Given the description of an element on the screen output the (x, y) to click on. 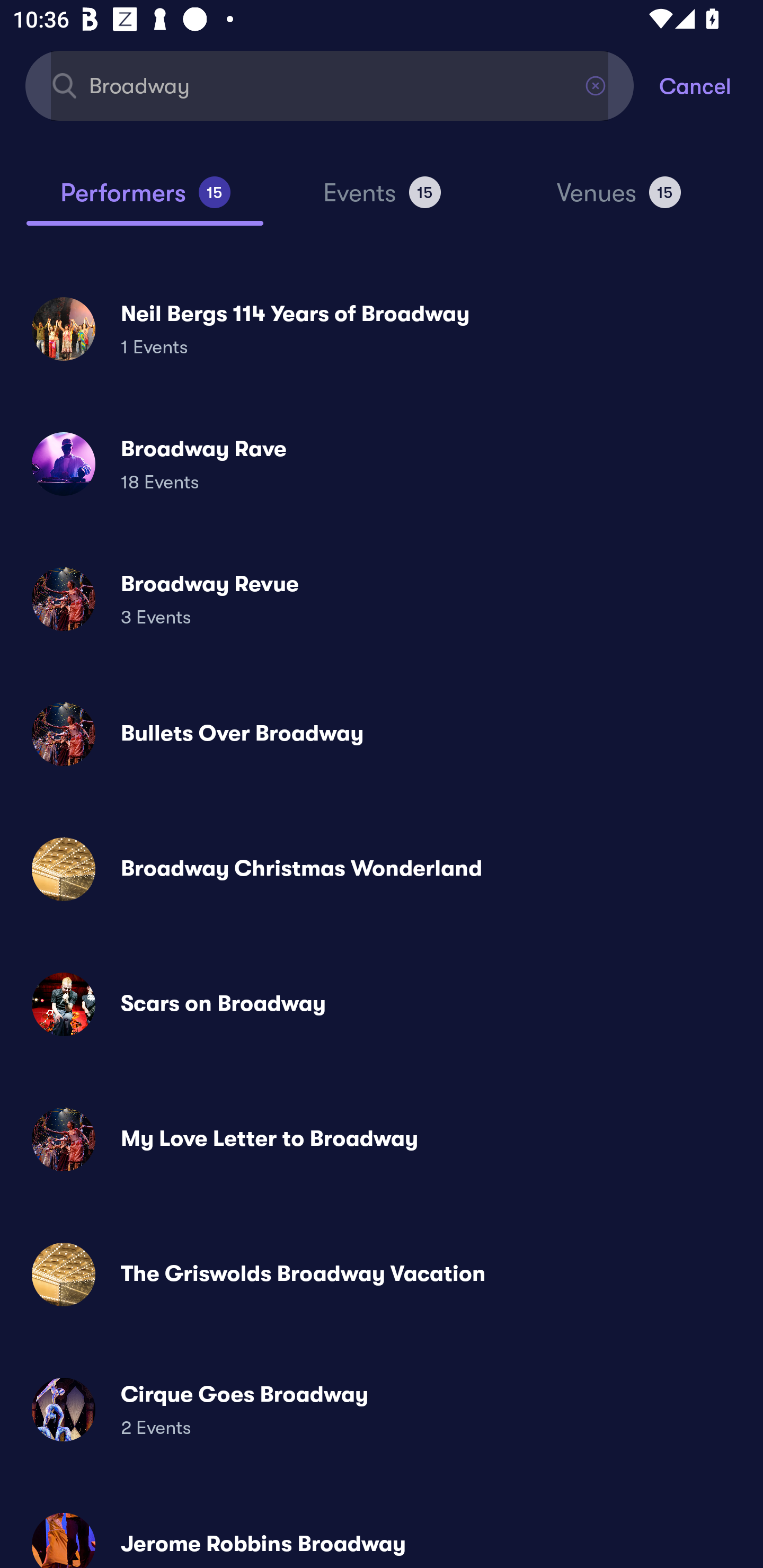
Broadway Find (329, 85)
Broadway Find (329, 85)
Cancel (711, 85)
Performers 15 (144, 200)
Events 15 (381, 200)
Venues 15 (618, 200)
Neil Bergs 114 Years of Broadway 1 Events (381, 328)
Broadway Rave 18 Events (381, 464)
Broadway Revue 3 Events (381, 598)
Bullets Over Broadway (381, 734)
Broadway Christmas Wonderland (381, 869)
Scars on Broadway (381, 1004)
My Love Letter to Broadway (381, 1138)
The Griswolds Broadway Vacation (381, 1273)
Cirque Goes Broadway 2 Events (381, 1409)
Jerome Robbins Broadway (381, 1532)
